Given the description of an element on the screen output the (x, y) to click on. 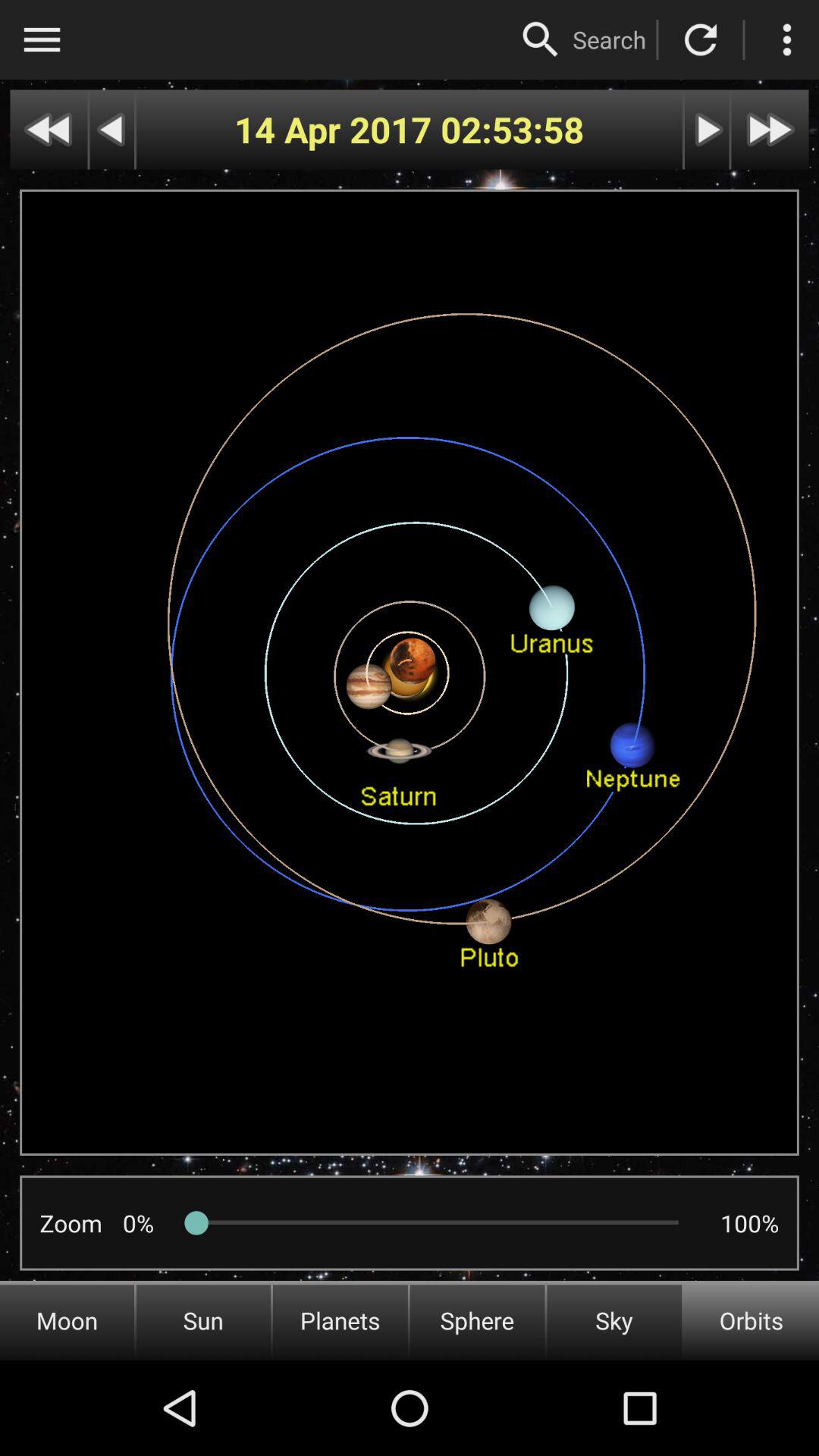
go to next (769, 129)
